Given the description of an element on the screen output the (x, y) to click on. 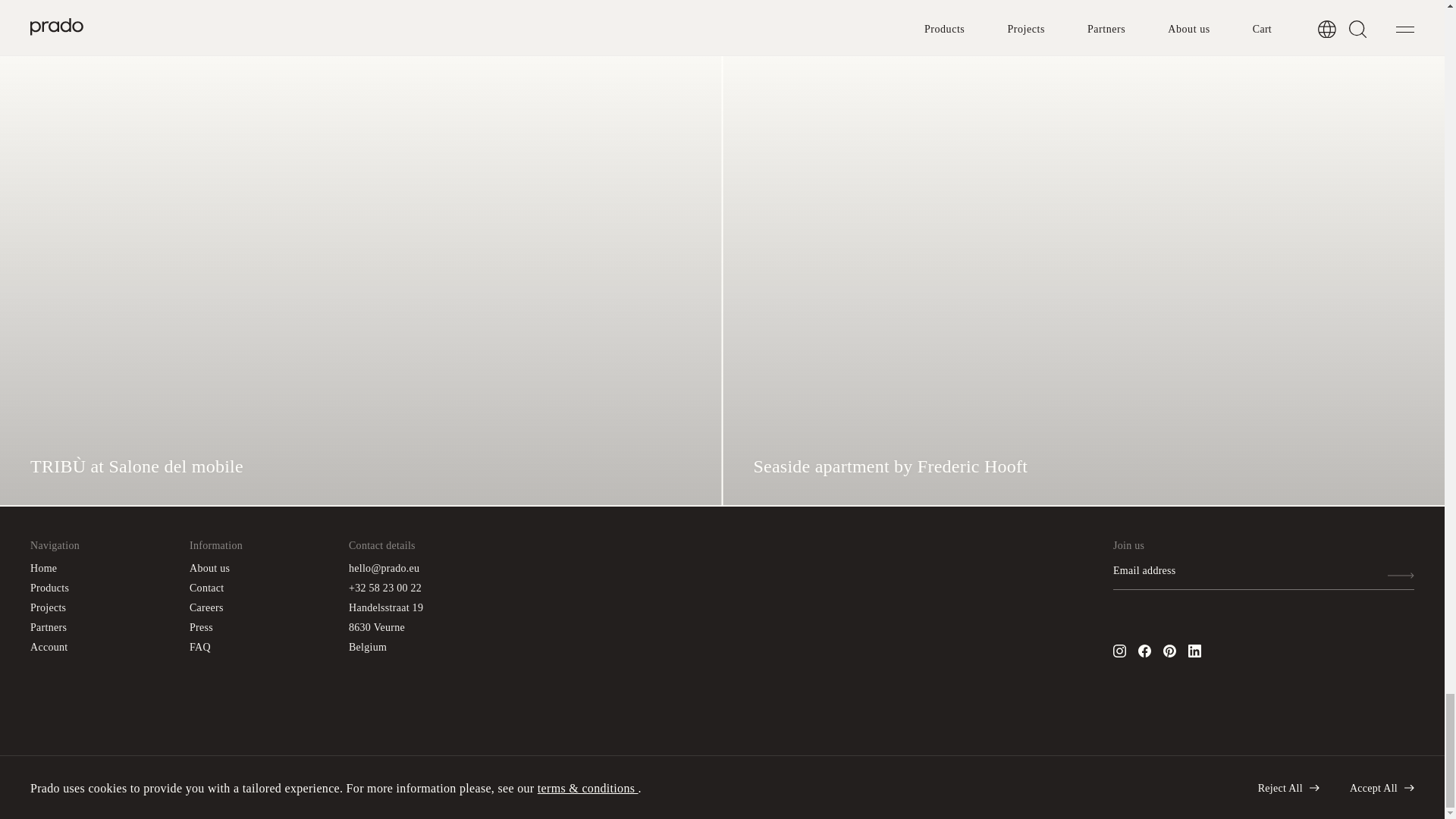
Send (1400, 575)
